Given the description of an element on the screen output the (x, y) to click on. 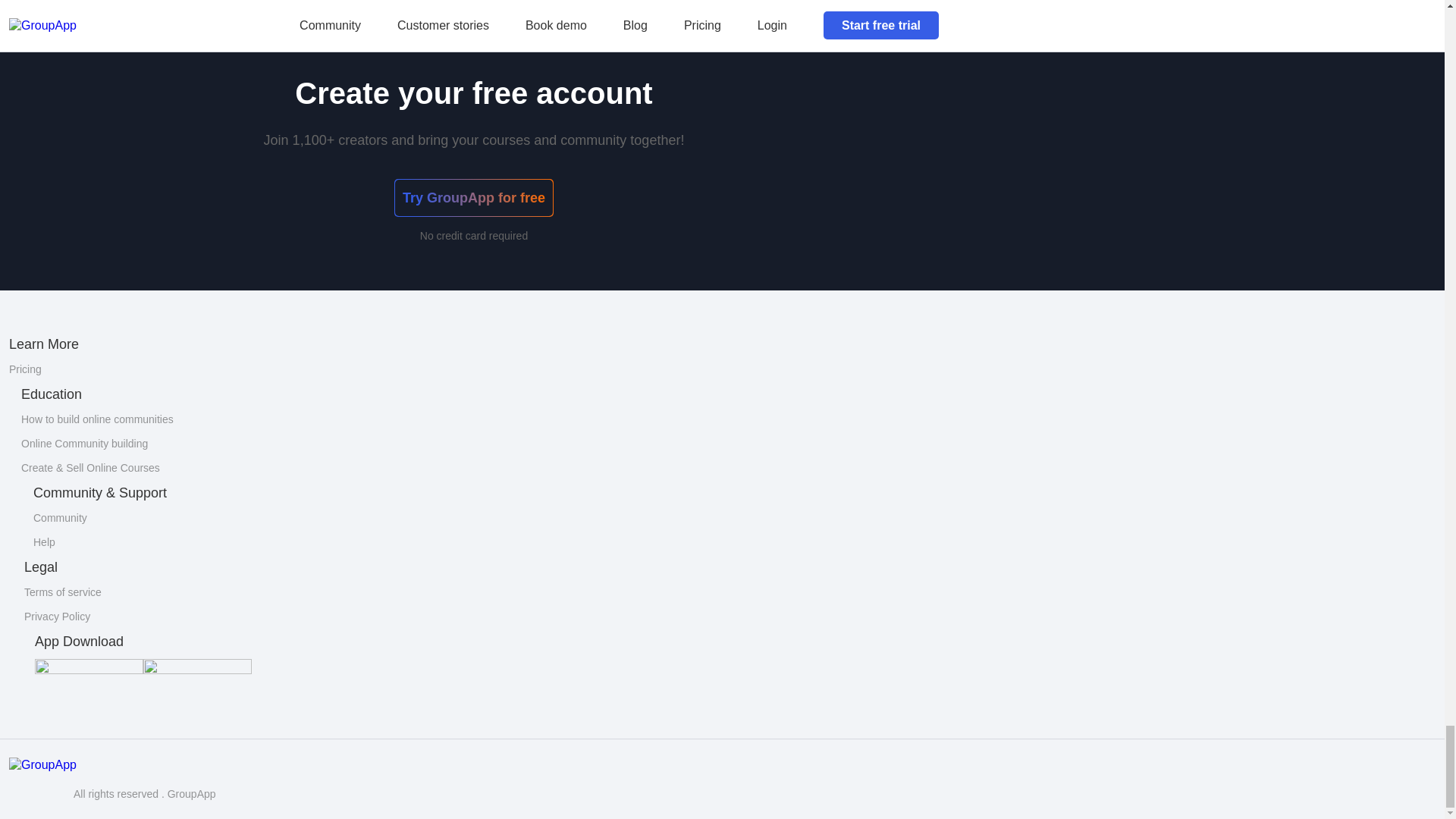
Privacy Policy (57, 616)
Help (44, 541)
Create your free GroupApp account now. (127, 2)
How to build online communities (97, 419)
Community (60, 517)
Try GroupApp for free (473, 197)
Online Community building (84, 443)
GroupApp (36, 779)
Terms of service (62, 592)
Pricing (25, 369)
